Given the description of an element on the screen output the (x, y) to click on. 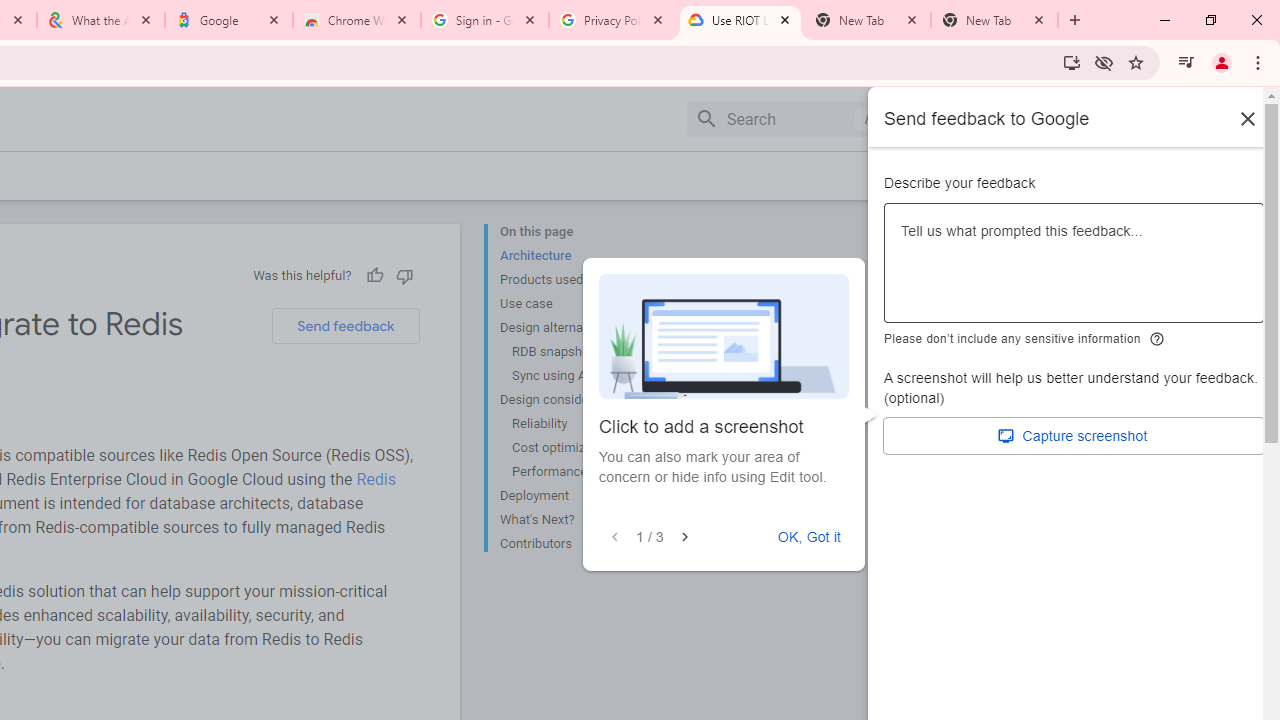
Capture screenshot (1074, 436)
Performance (585, 471)
